Given the description of an element on the screen output the (x, y) to click on. 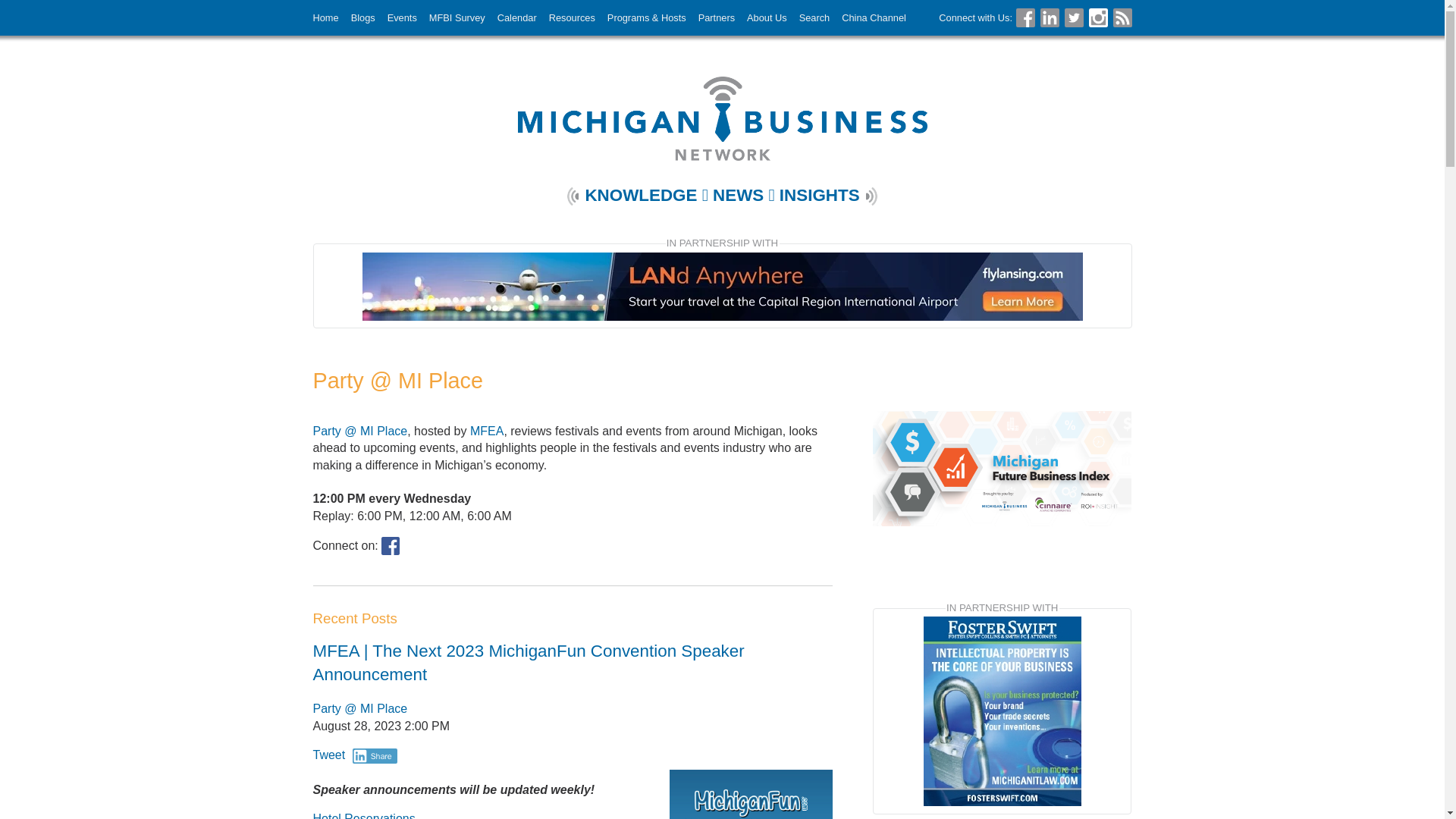
Connect with Instagram (1098, 17)
Subscribe to Blog RSS (1122, 17)
MFBI Survey (463, 17)
Connect on Linkedin (1050, 17)
Follow on Twitter (1073, 17)
Hotel Reservations (363, 815)
Follow on Facebook (1025, 17)
Partners (722, 17)
Resources (577, 17)
Blogs (368, 17)
MFEA (486, 431)
Events (408, 17)
Share (374, 755)
Home (331, 17)
